Given the description of an element on the screen output the (x, y) to click on. 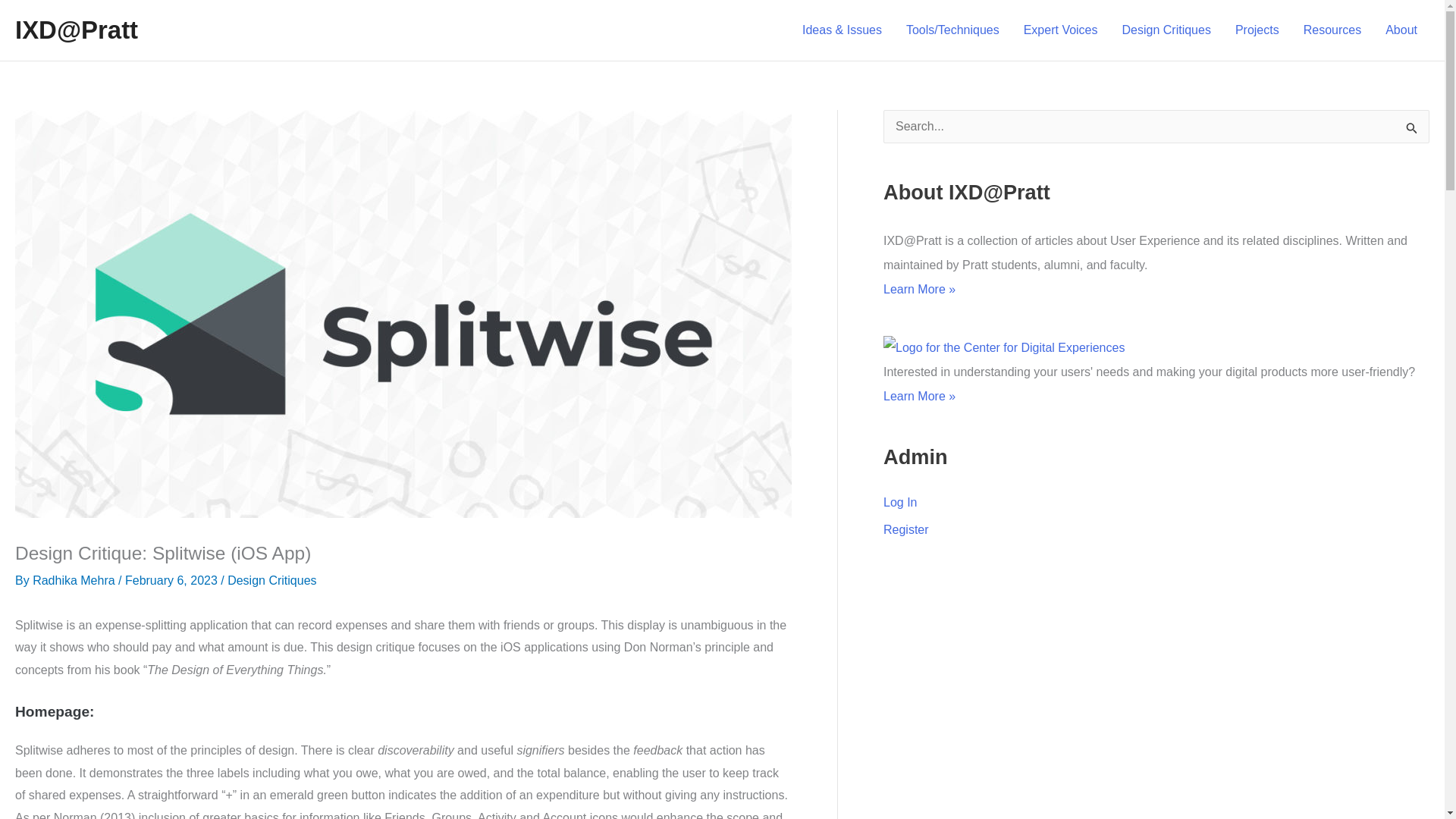
Expert Voices (1060, 30)
About (1401, 30)
Design Critiques (271, 580)
Log In (900, 502)
Design Critiques (1166, 30)
Projects (1257, 30)
Register (905, 529)
View all posts by Radhika Mehra (74, 580)
Resources (1332, 30)
Radhika Mehra (74, 580)
